Given the description of an element on the screen output the (x, y) to click on. 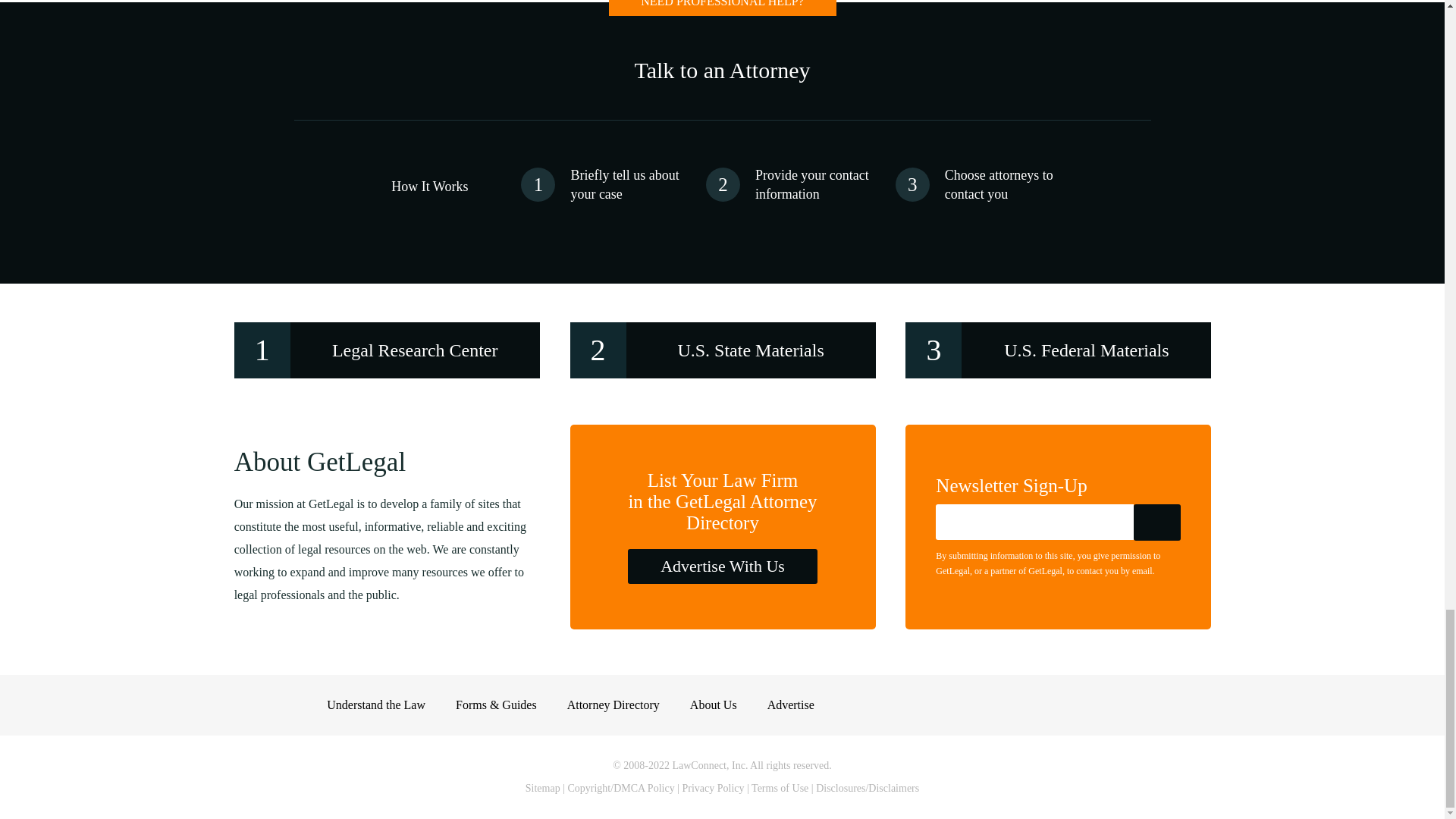
Subscribe! (1157, 522)
